Given the description of an element on the screen output the (x, y) to click on. 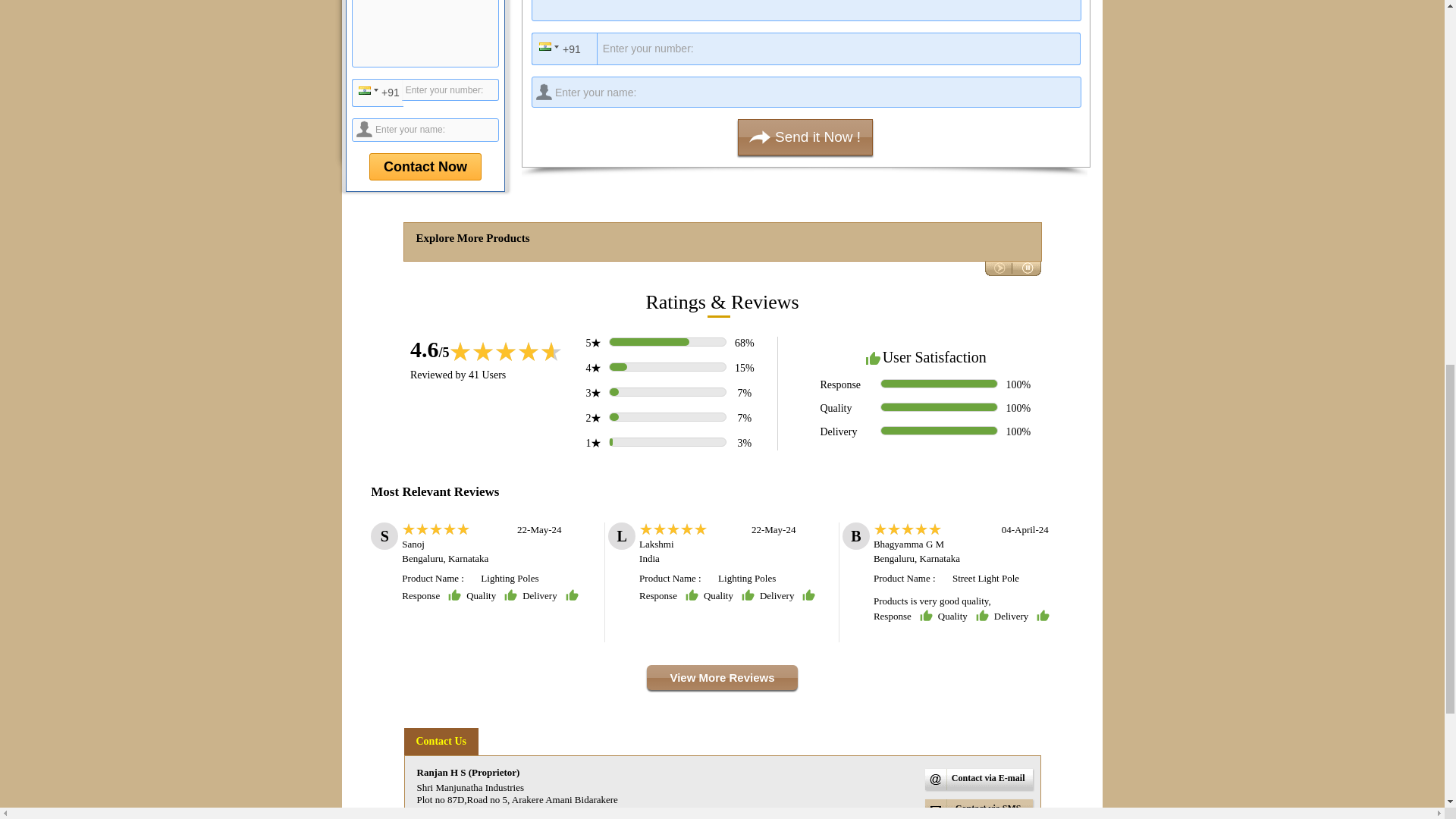
Send it Now ! (805, 136)
Enter your number: (810, 48)
Enter your name: (425, 129)
Enter your name: (806, 91)
4.6 out of 5 Votes (429, 348)
Contact Now (425, 166)
Send it Now ! (805, 136)
Enter your number: (450, 89)
